Given the description of an element on the screen output the (x, y) to click on. 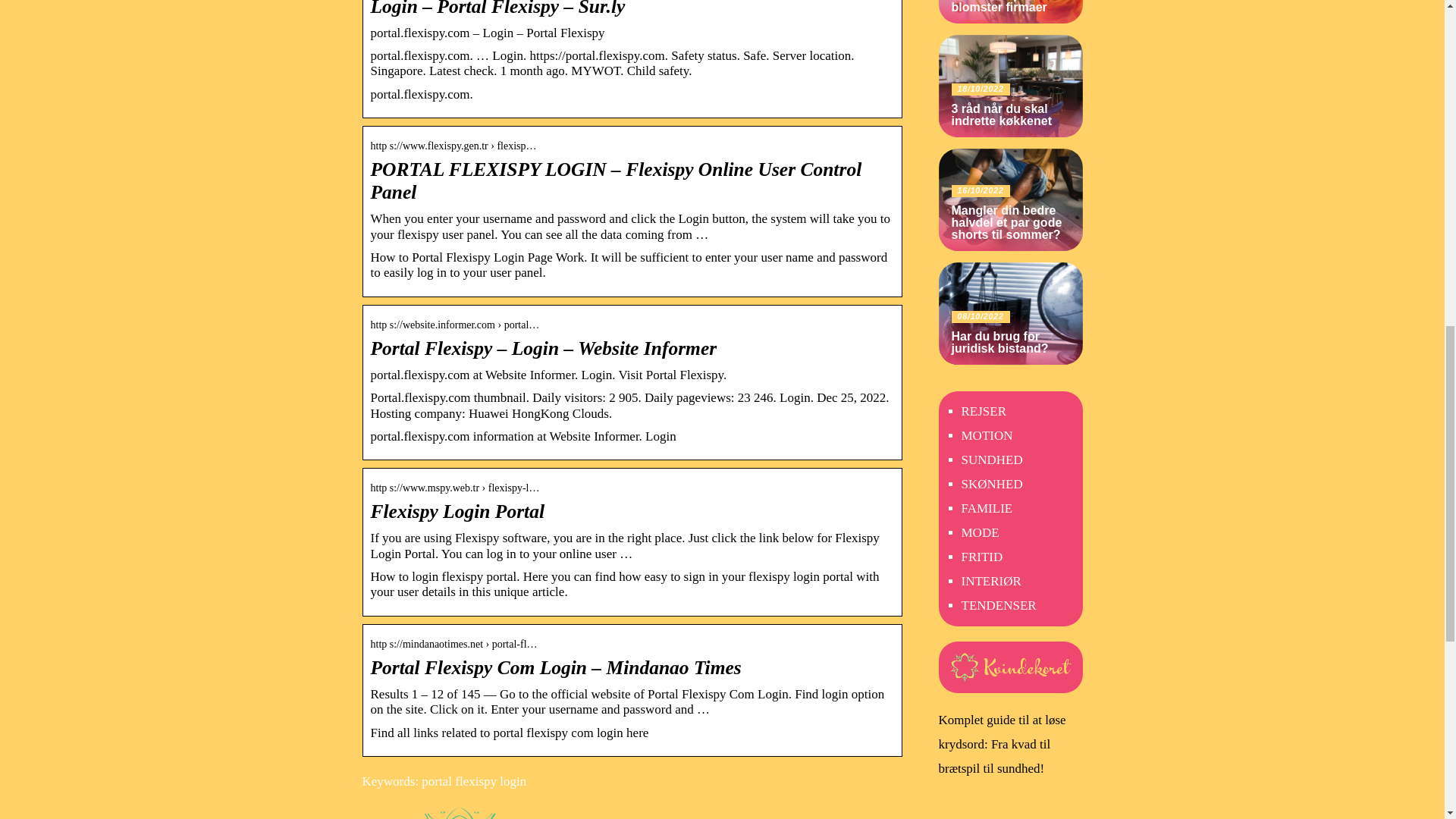
SUNDHED (991, 459)
MODE (979, 532)
REJSER (983, 411)
FAMILIE (986, 508)
TENDENSER (998, 605)
FRITID (981, 556)
MOTION (986, 435)
